Given the description of an element on the screen output the (x, y) to click on. 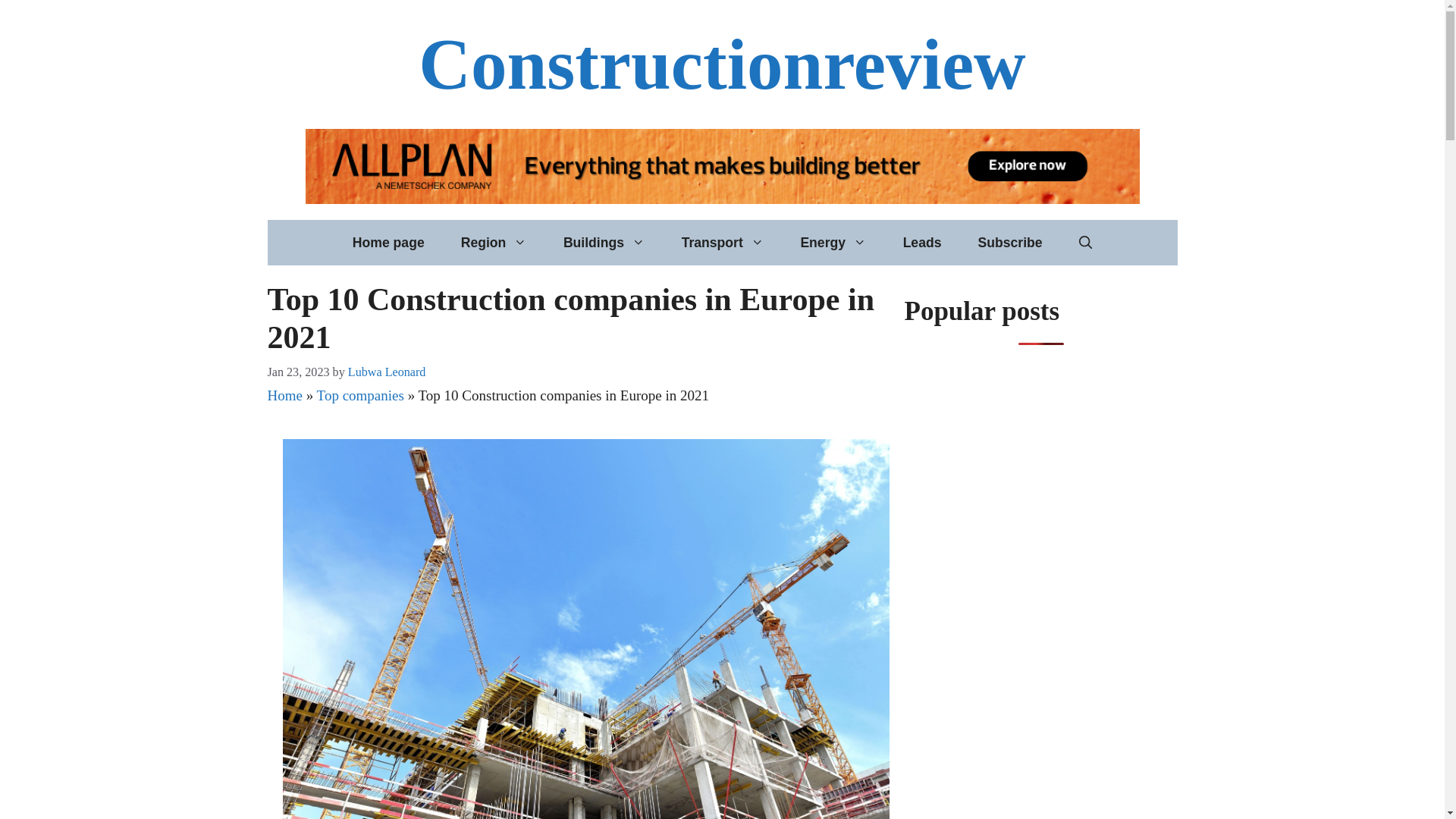
Subscribe (1009, 242)
Region (493, 242)
Energy (832, 242)
View all posts by Lubwa Leonard (386, 371)
Constructionreview (722, 64)
Leads (922, 242)
Buildings (603, 242)
Home page (388, 242)
Transport (723, 242)
